Given the description of an element on the screen output the (x, y) to click on. 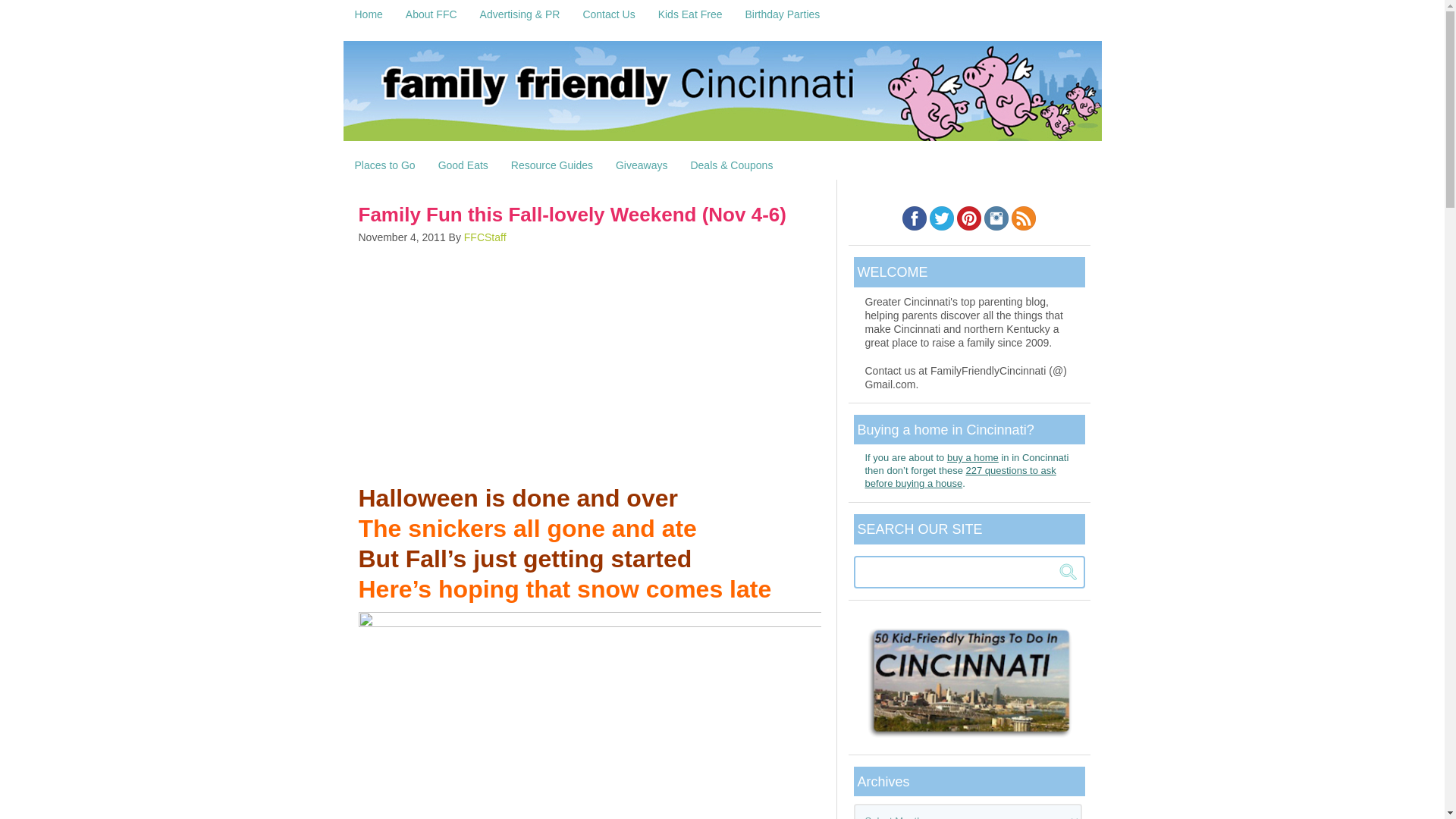
Resource Guides (551, 164)
About FFC (431, 14)
Kids Eat Free (689, 14)
Good Eats (462, 164)
Places to Go (384, 164)
Family Friendly Cincinnati (721, 95)
Home (367, 14)
Birthday Parties (782, 14)
Advertisement (589, 362)
FallWUTW (589, 715)
FFCStaff (485, 236)
Giveaways (641, 164)
Contact Us (608, 14)
